Given the description of an element on the screen output the (x, y) to click on. 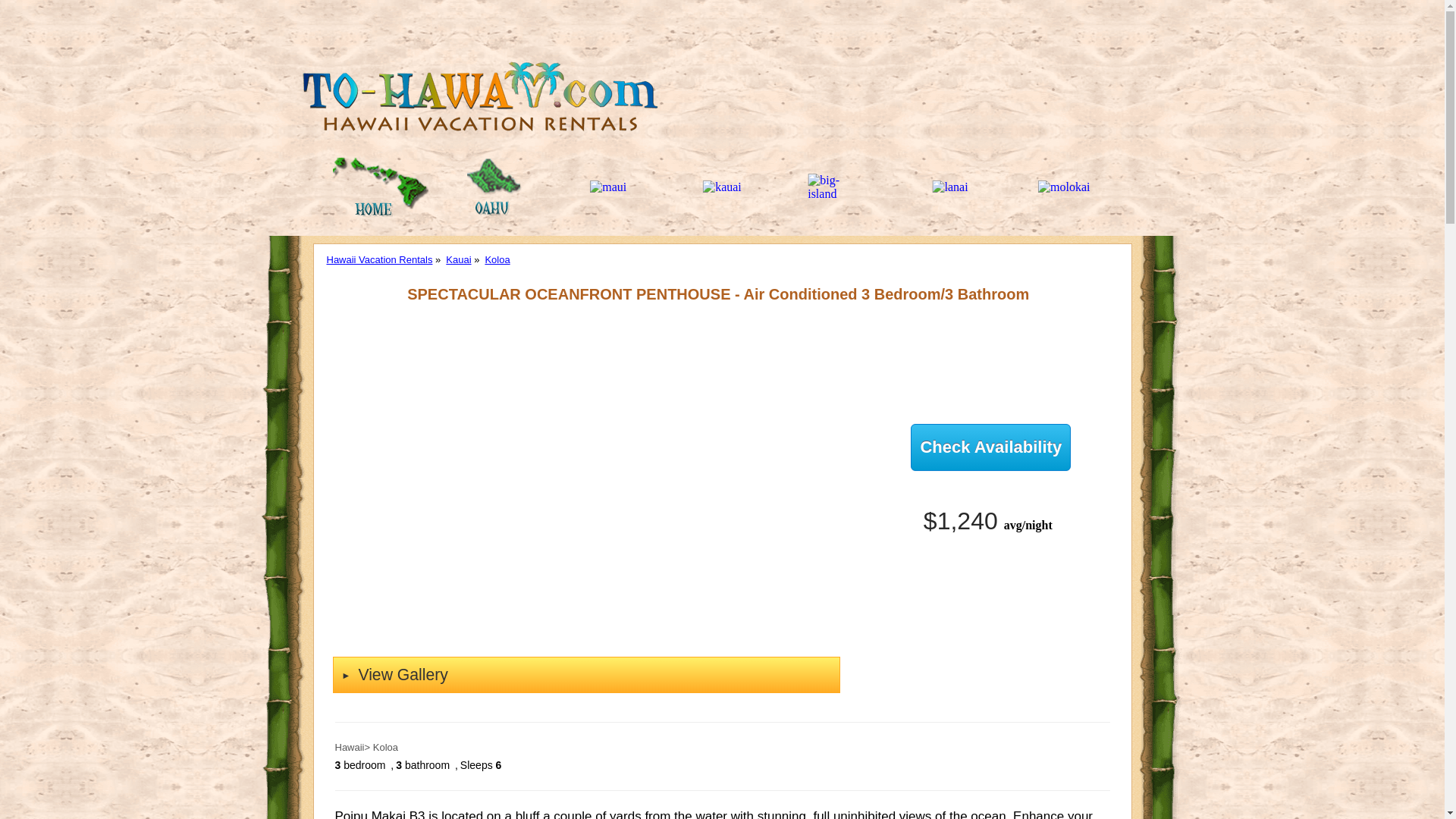
Kauai (457, 259)
Check Availability (990, 447)
Hawaii Vacation Rentals (379, 259)
Koloa (496, 259)
